Given the description of an element on the screen output the (x, y) to click on. 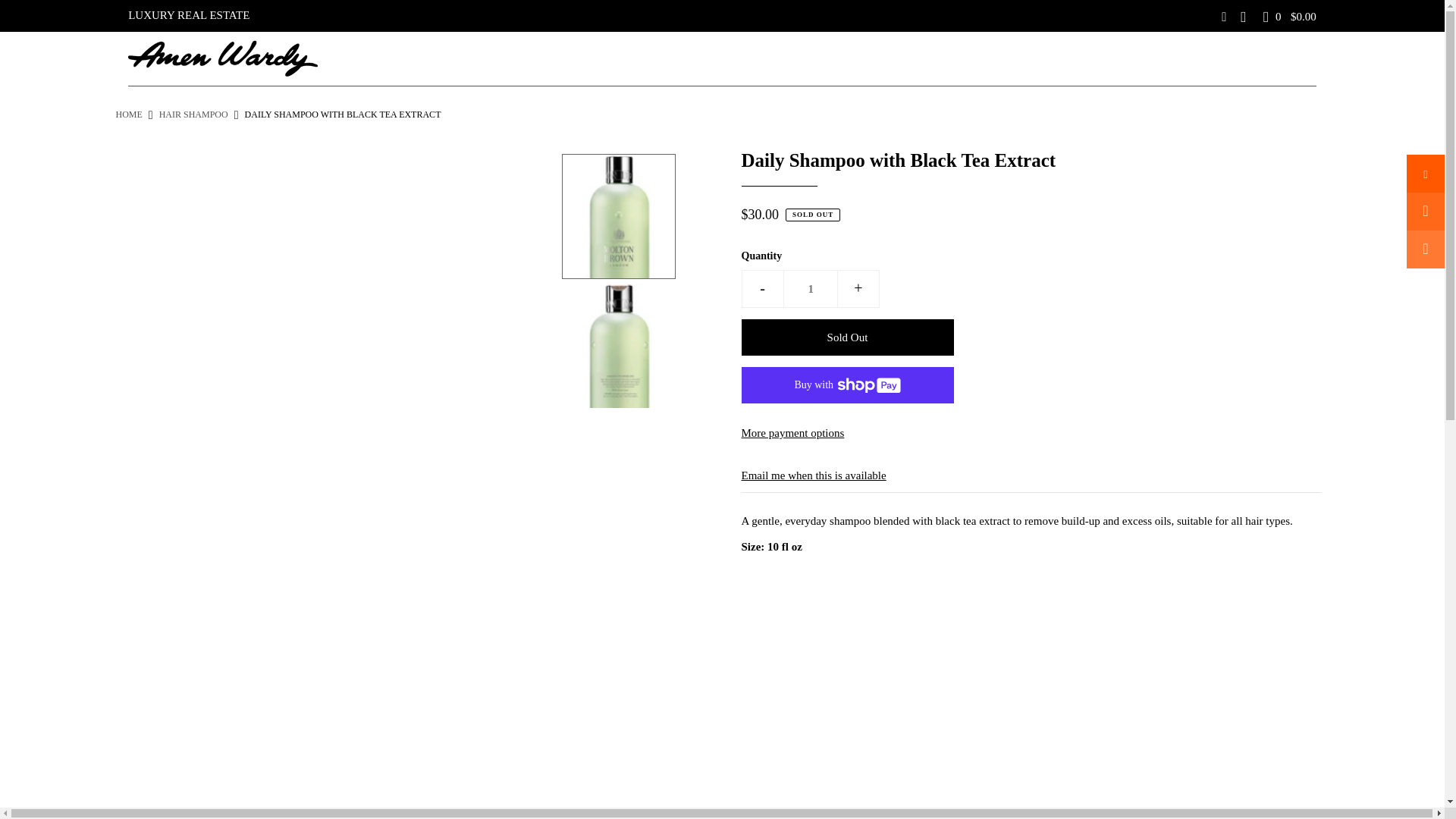
- (762, 288)
HAIR SHAMPOO (193, 113)
Home (128, 113)
Share on Pinterest (1425, 249)
LUXURY REAL ESTATE (188, 15)
Sold Out (847, 337)
Share on Facebook (1425, 173)
Hair Shampoo (193, 113)
HOME (128, 113)
1 (810, 288)
Share on Twitter (1425, 211)
More payment options (1031, 432)
Sold Out (847, 337)
